Given the description of an element on the screen output the (x, y) to click on. 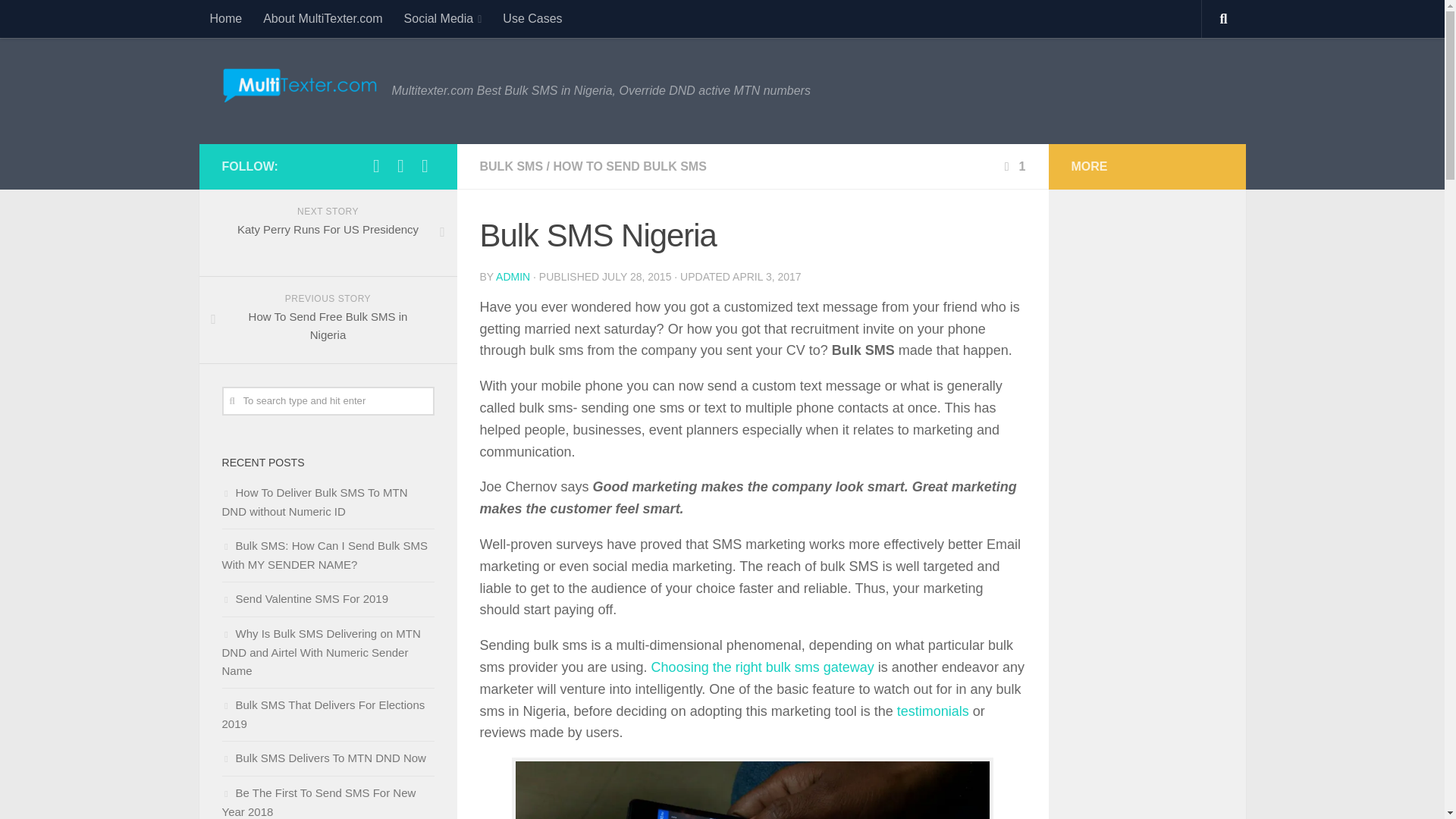
Choosing the right bulk sms gateway (762, 667)
Posts by admin (512, 276)
Home (224, 18)
testimonials (932, 711)
Social Media (443, 18)
To search type and hit enter (327, 400)
ADMIN (512, 276)
To search type and hit enter (327, 400)
How To Choose Bulk SMS in Nigeria (762, 667)
About MultiTexter.com (322, 18)
bulk sms reviews (932, 711)
1 (1013, 165)
BULK SMS (511, 165)
HOW TO SEND BULK SMS (629, 165)
Use Cases (532, 18)
